Given the description of an element on the screen output the (x, y) to click on. 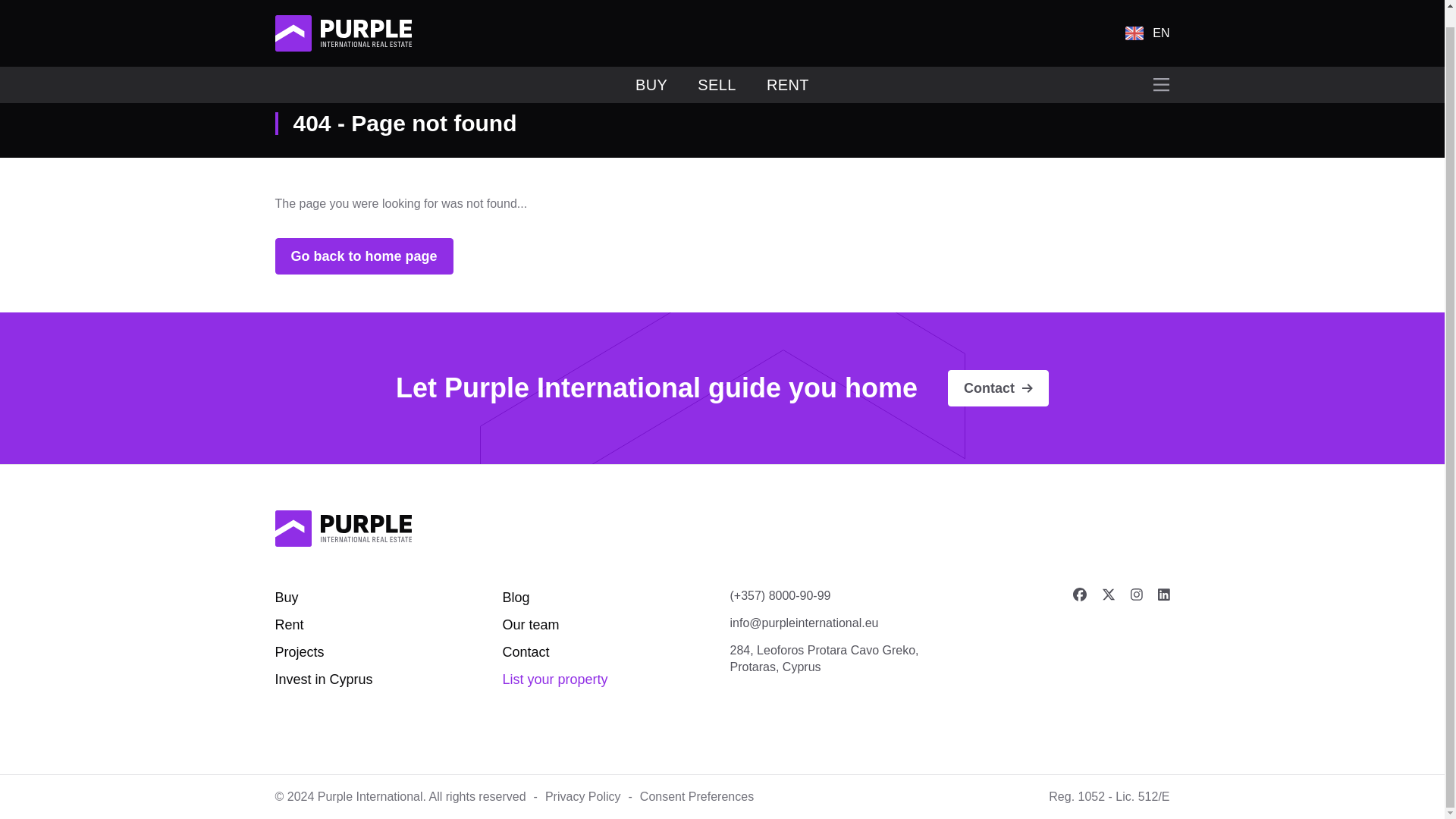
Consent Preferences (697, 796)
Our team (530, 624)
RENT (788, 67)
Contact (525, 652)
Rent (288, 624)
Projects (299, 652)
Privacy Policy (582, 796)
Go back to home page (363, 256)
Blog (515, 597)
List your property (554, 679)
Contact (997, 388)
Invest in Cyprus (323, 679)
SELL (716, 67)
Buy (286, 597)
EN (1147, 16)
